Given the description of an element on the screen output the (x, y) to click on. 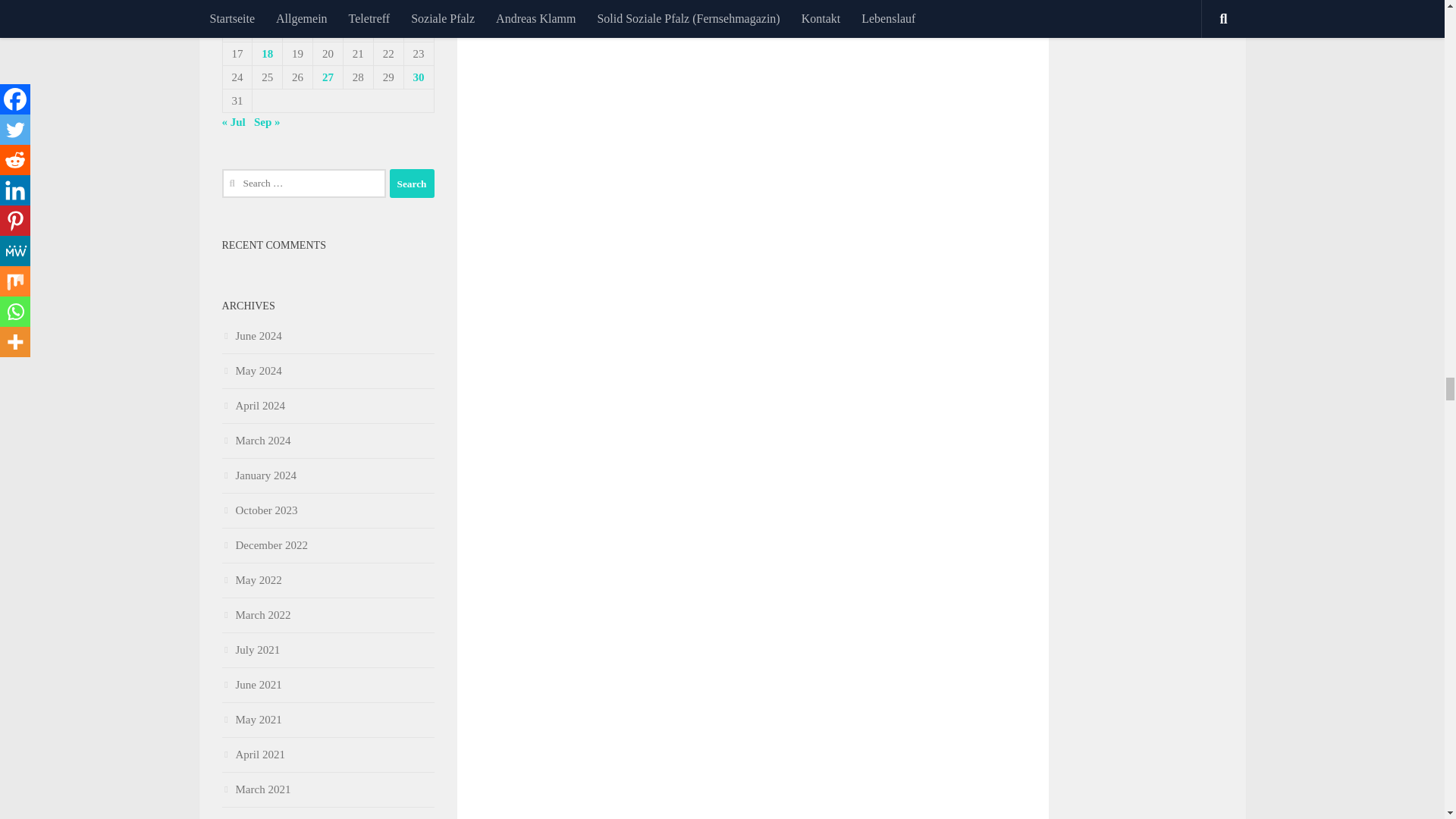
Search (411, 183)
Search (411, 183)
